Given the description of an element on the screen output the (x, y) to click on. 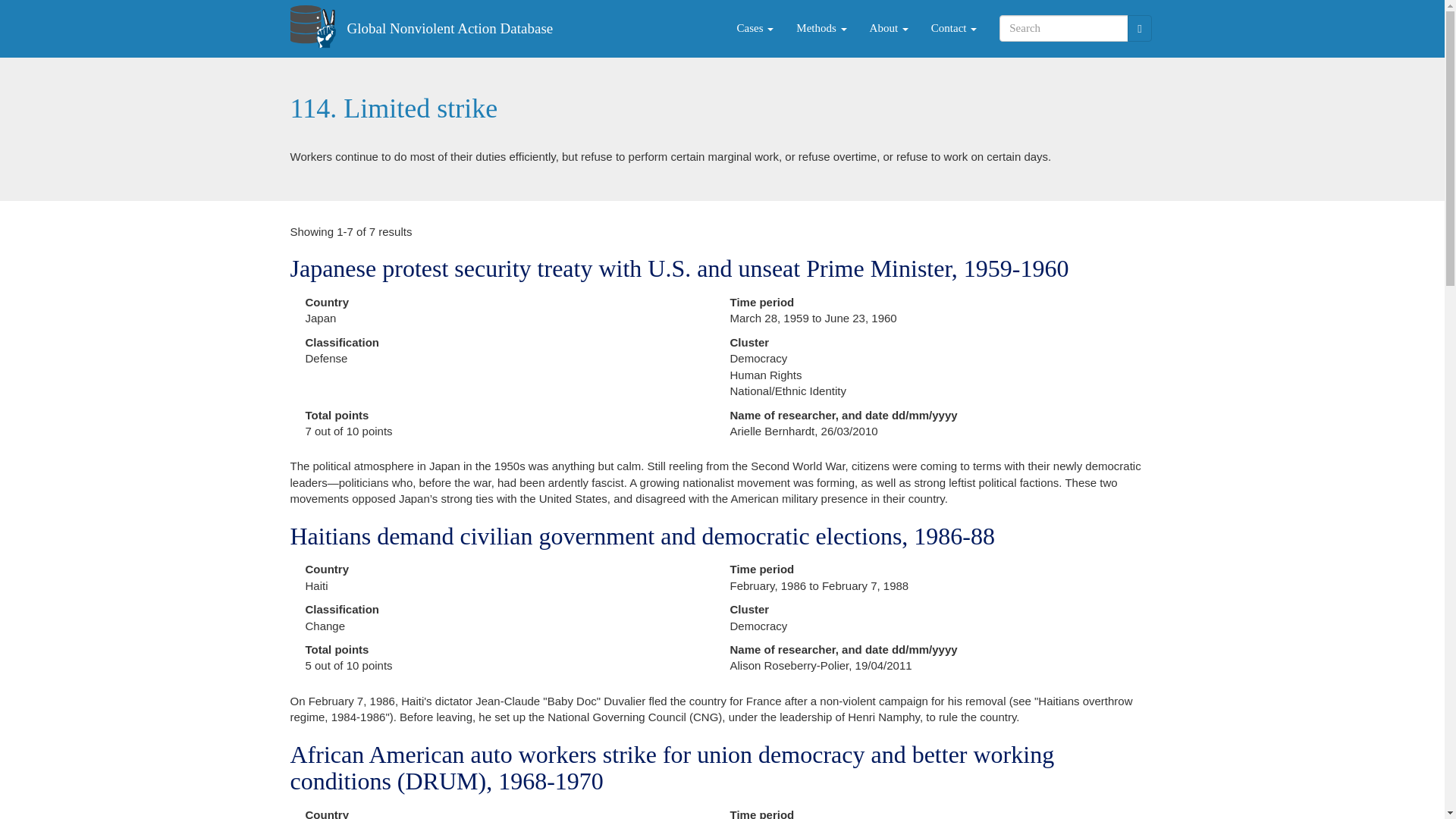
Contact (954, 28)
Global Nonviolent Action Database (449, 28)
Cases (755, 28)
Home (317, 25)
Home (449, 28)
Methods (820, 28)
About the Database (889, 28)
Contact Us with comments, praise, suggestions (954, 28)
About (889, 28)
